Given the description of an element on the screen output the (x, y) to click on. 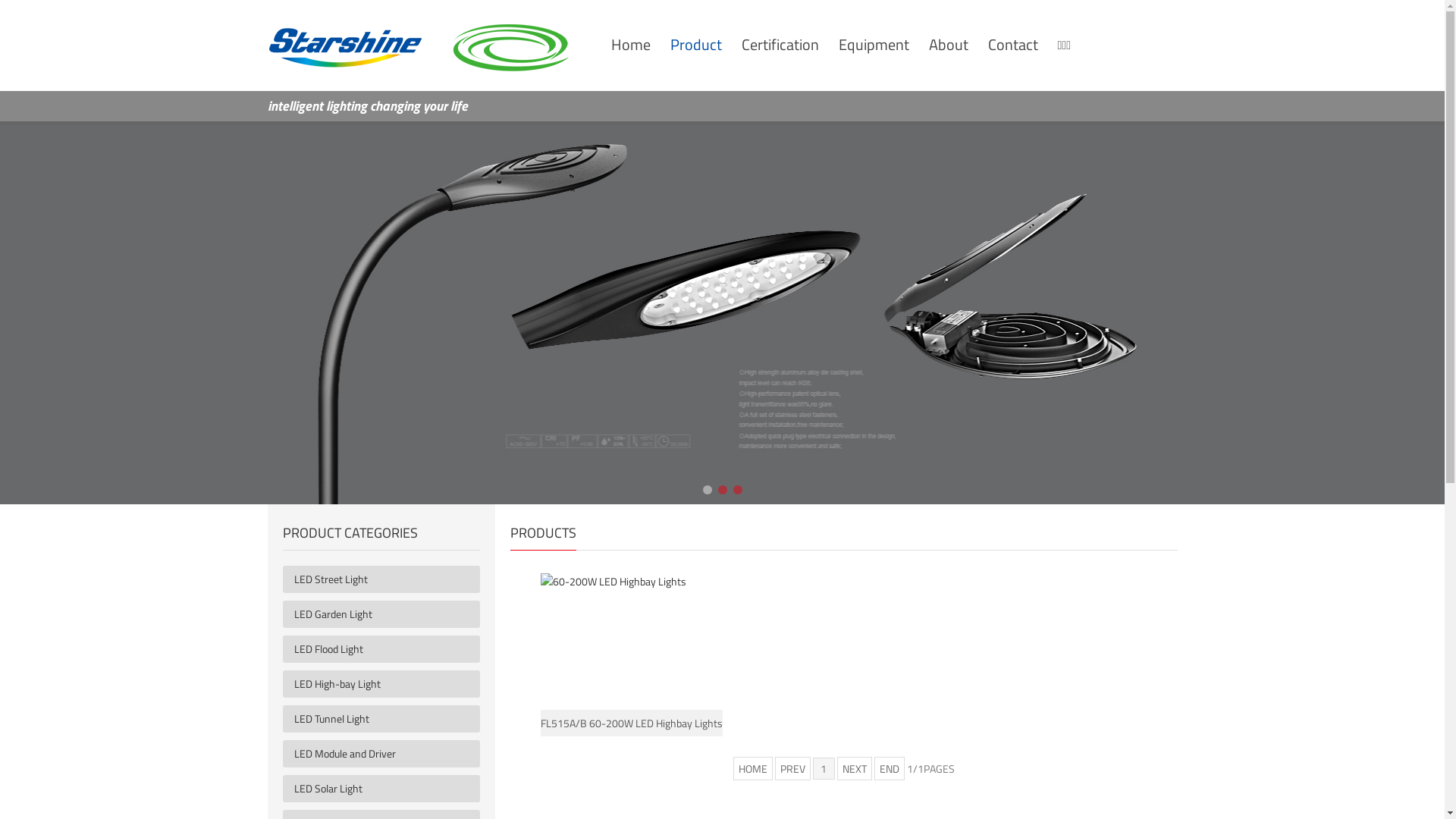
LED Module and Driver Element type: text (387, 753)
END Element type: text (888, 768)
Product Element type: text (695, 44)
PREV Element type: text (792, 768)
LED Flood Light Element type: text (387, 648)
LED Solar Light Element type: text (387, 788)
LED Garden Light Element type: text (387, 613)
NEXT Element type: text (854, 768)
LED Tunnel Light Element type: text (387, 718)
Contact Element type: text (1012, 44)
HOME Element type: text (751, 768)
About Element type: text (947, 44)
LED High-bay Light Element type: text (387, 683)
Home Element type: text (630, 44)
Equipment Element type: text (873, 44)
Certification Element type: text (780, 44)
LED Street Light Element type: text (387, 579)
